Given the description of an element on the screen output the (x, y) to click on. 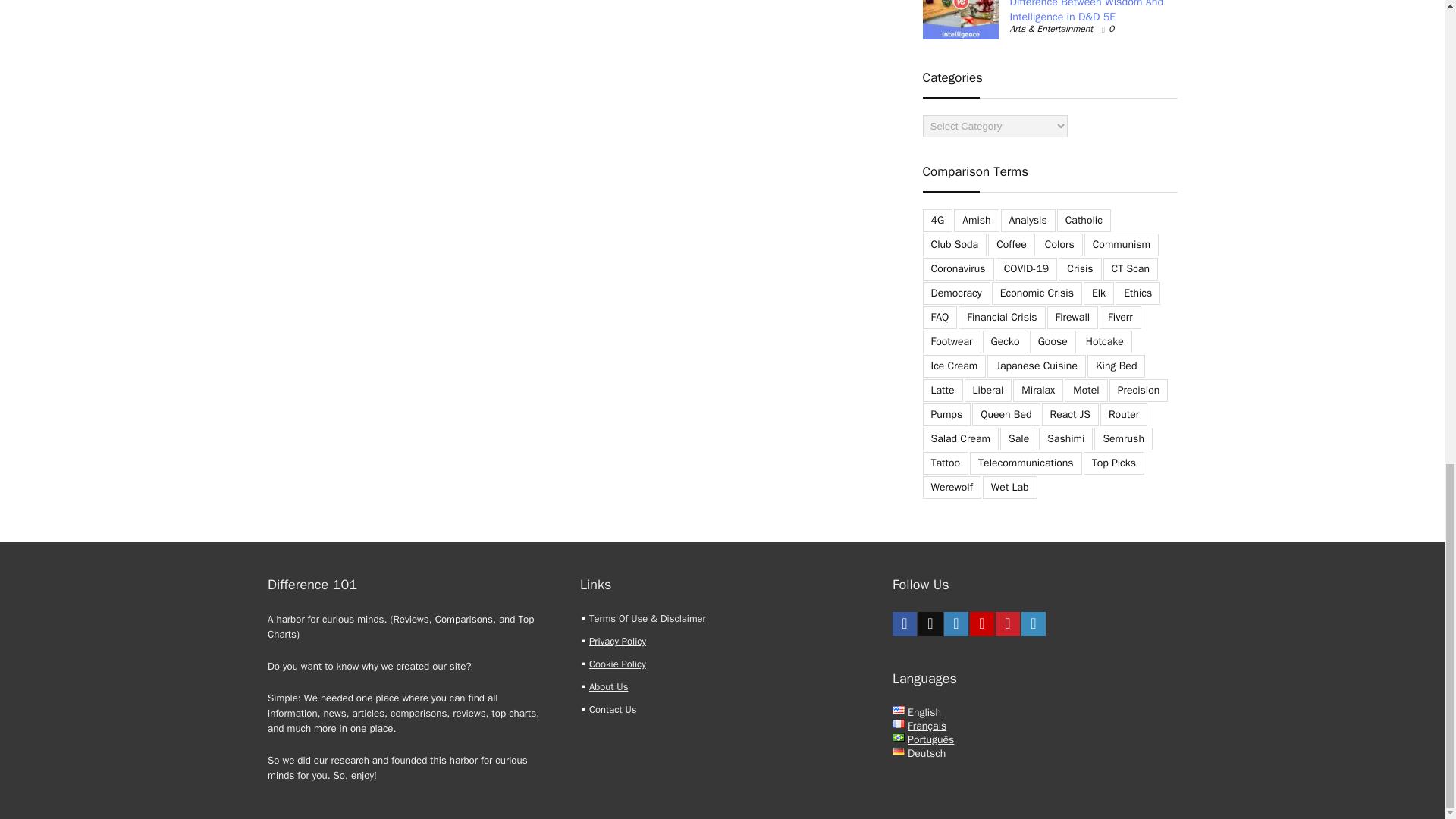
twitter (930, 623)
Facebook (904, 623)
Youtube (981, 623)
Linkedin (1033, 623)
Instagramm (955, 623)
Pinterest (1007, 623)
